Given the description of an element on the screen output the (x, y) to click on. 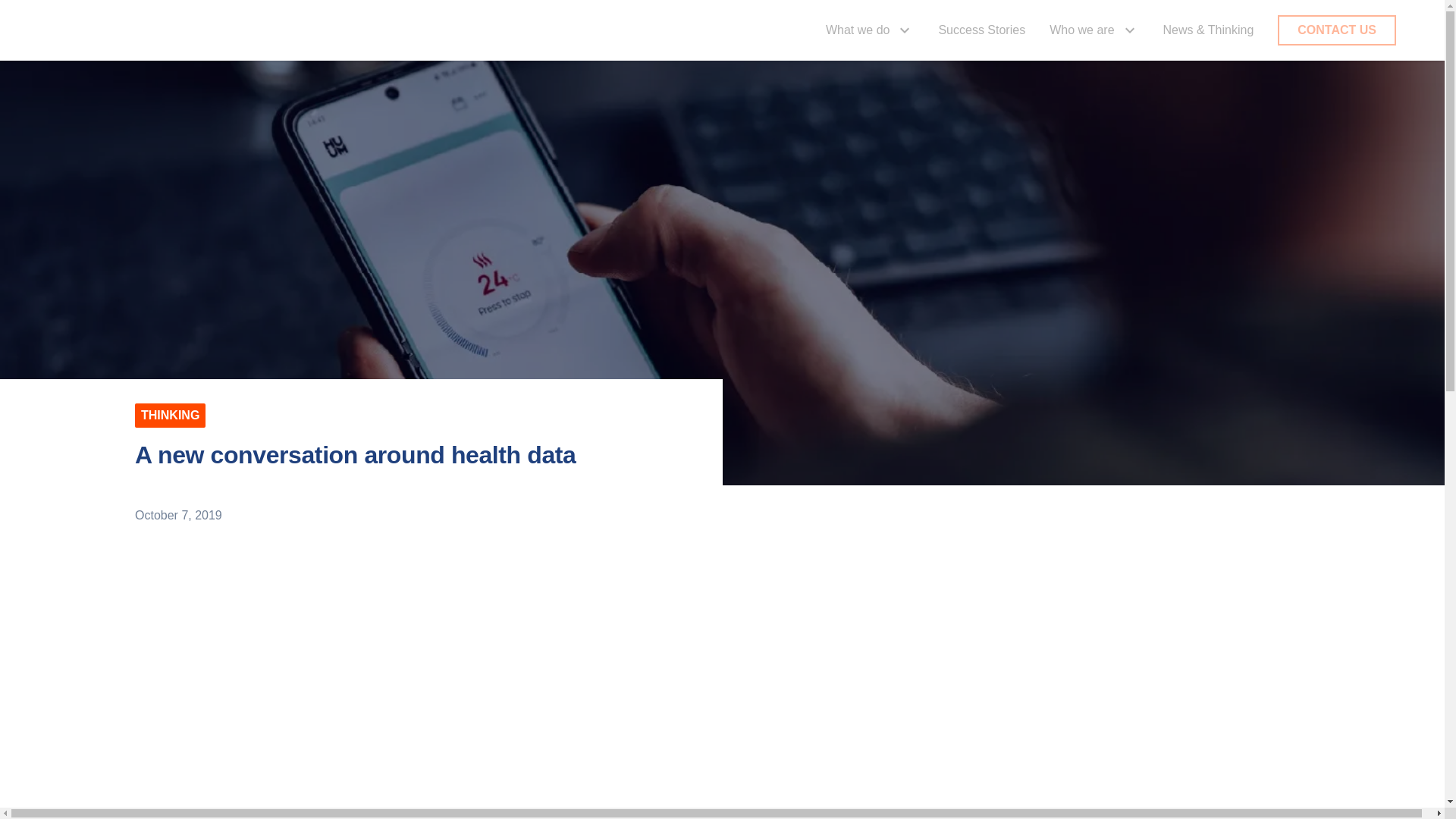
Success Stories (981, 30)
Who we are (1093, 30)
CONTACT US (1337, 30)
What we do (869, 30)
